Given the description of an element on the screen output the (x, y) to click on. 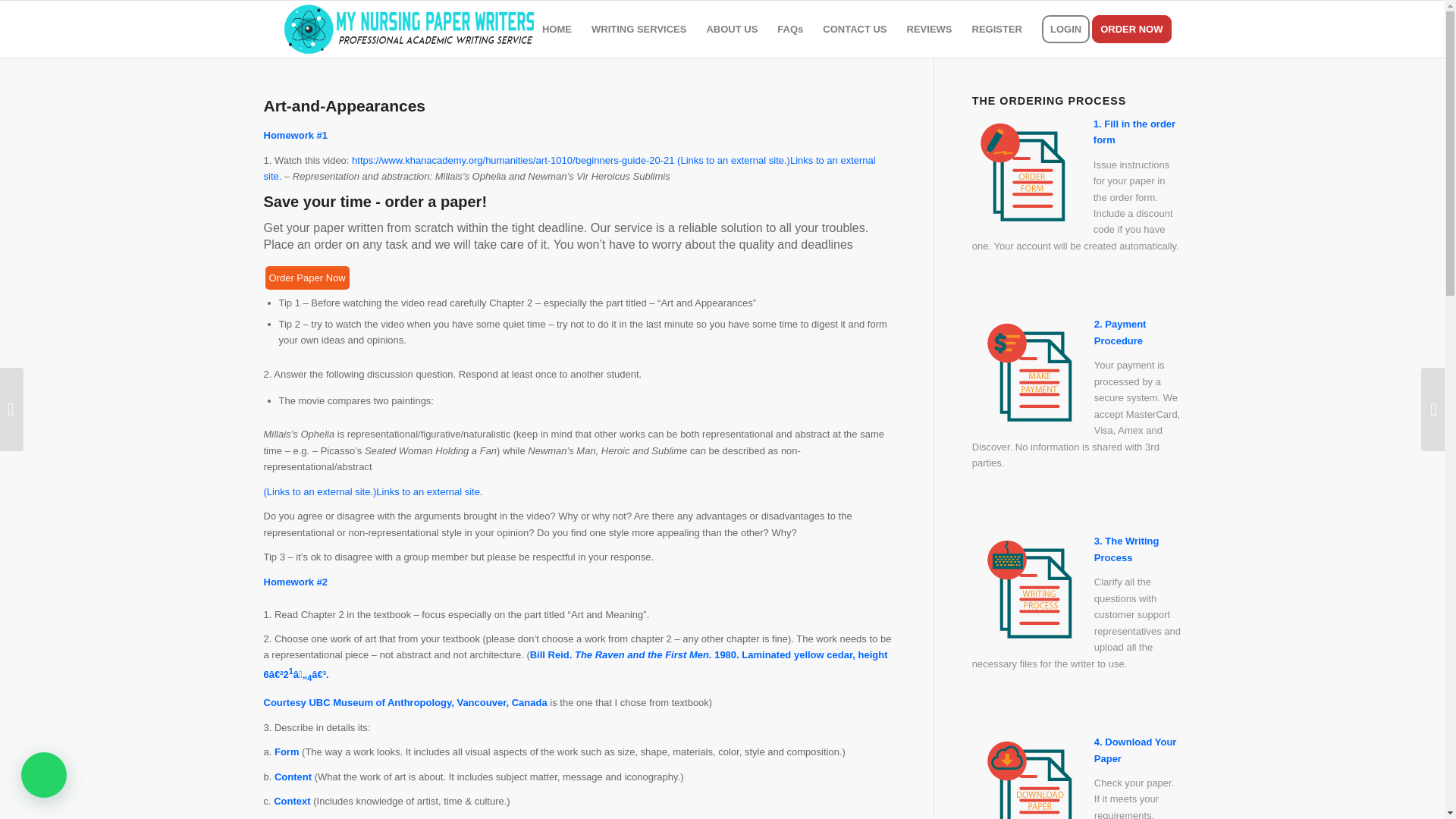
Permanent Link: Art-and-Appearances (344, 105)
REGISTER (997, 28)
ABOUT US (731, 28)
WRITING SERVICES (637, 28)
CONTACT US (854, 28)
ORDER NOW (1136, 28)
REVIEWS (929, 28)
Art-and-Appearances (344, 105)
Order Paper Now (306, 277)
LOGIN (1065, 28)
